Given the description of an element on the screen output the (x, y) to click on. 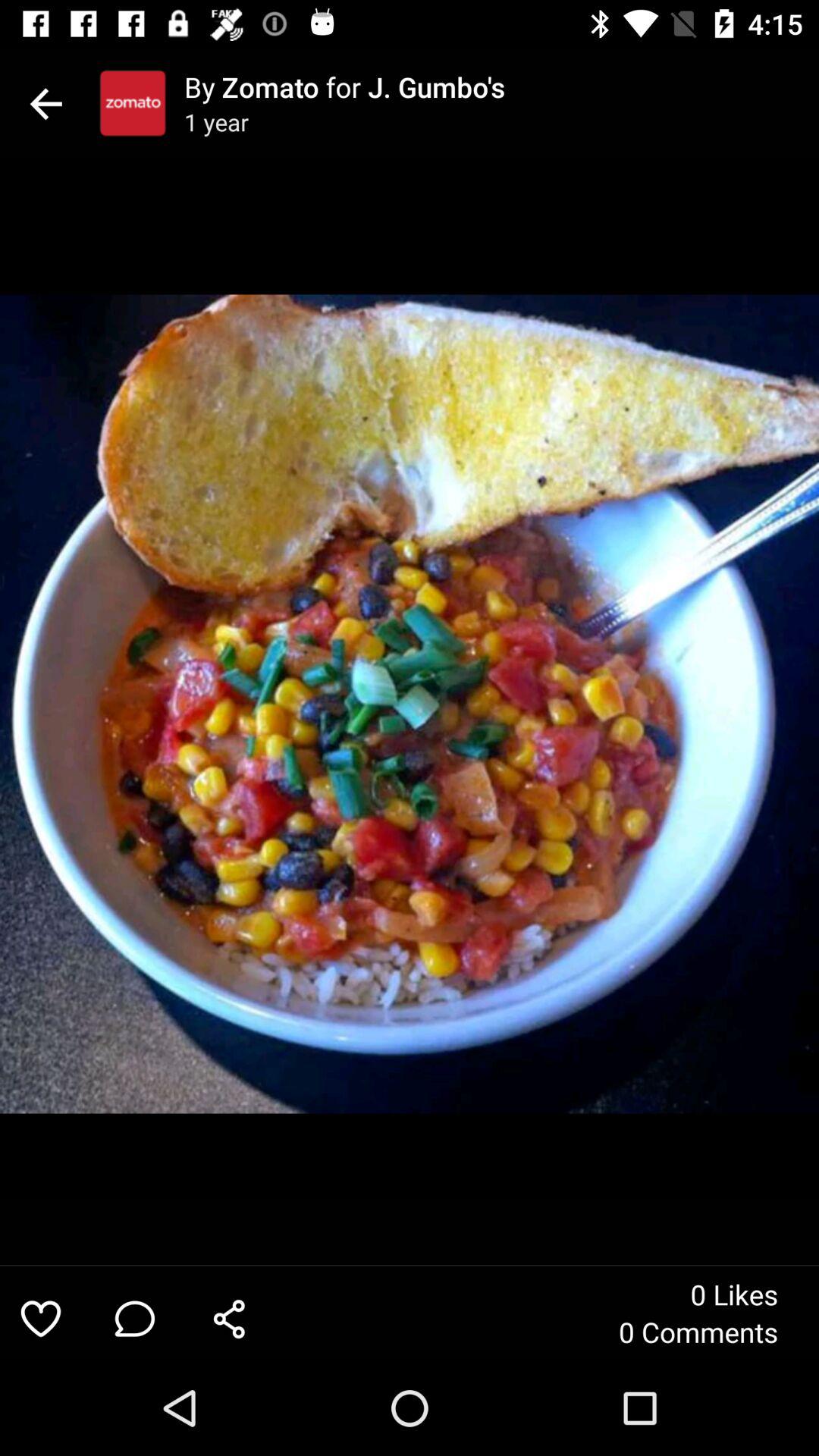
select item next to the 0 comments item (229, 1317)
